Given the description of an element on the screen output the (x, y) to click on. 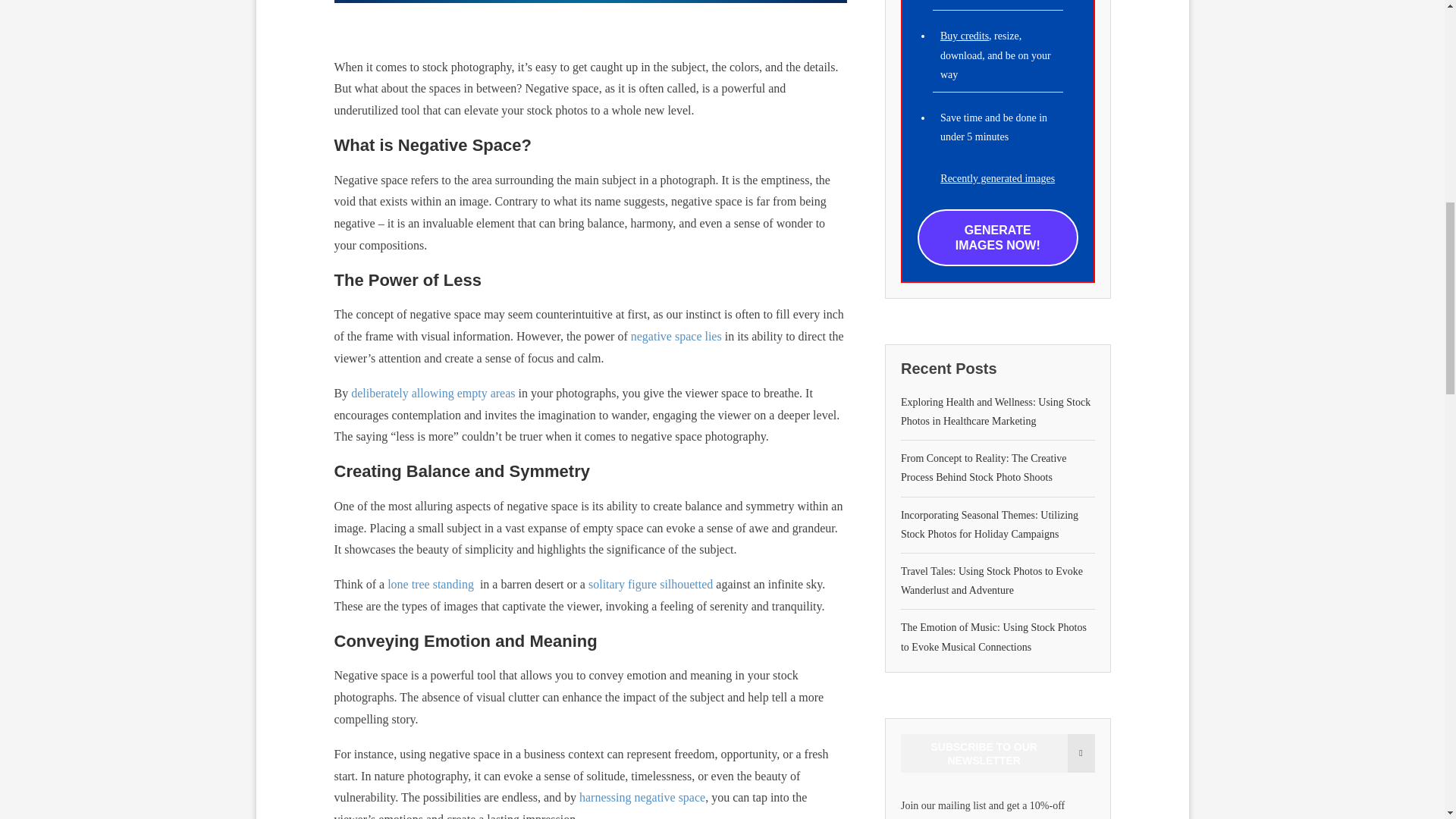
negative space lies (676, 336)
deliberately allowing empty areas (432, 392)
lone tree standing (430, 584)
